Given the description of an element on the screen output the (x, y) to click on. 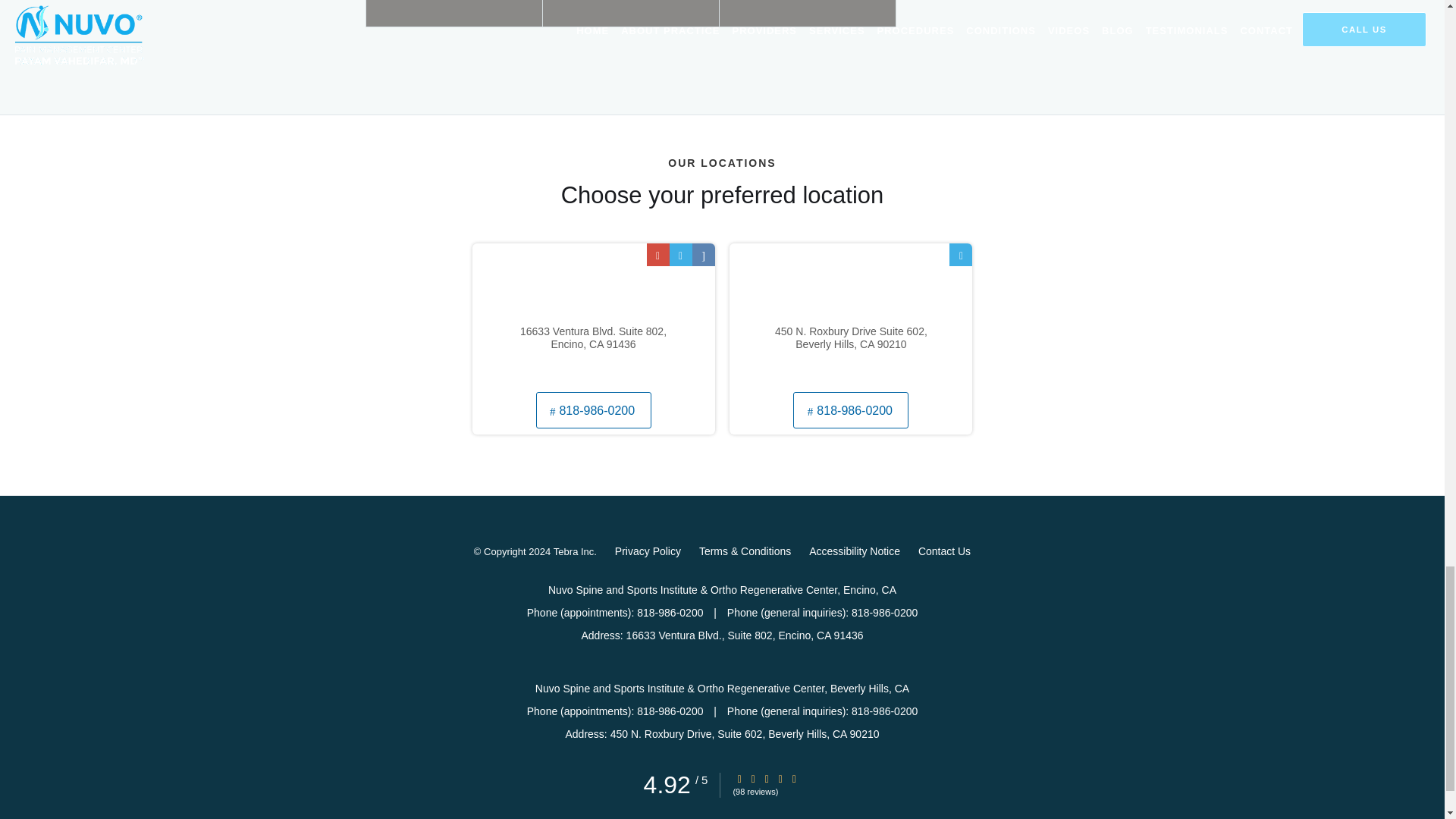
Star Rating (794, 778)
Star Rating (738, 778)
Map of Encino (592, 315)
Star Rating (753, 778)
Map of Beverly Hills  (850, 315)
Star Rating (766, 778)
Star Rating (780, 778)
